Given the description of an element on the screen output the (x, y) to click on. 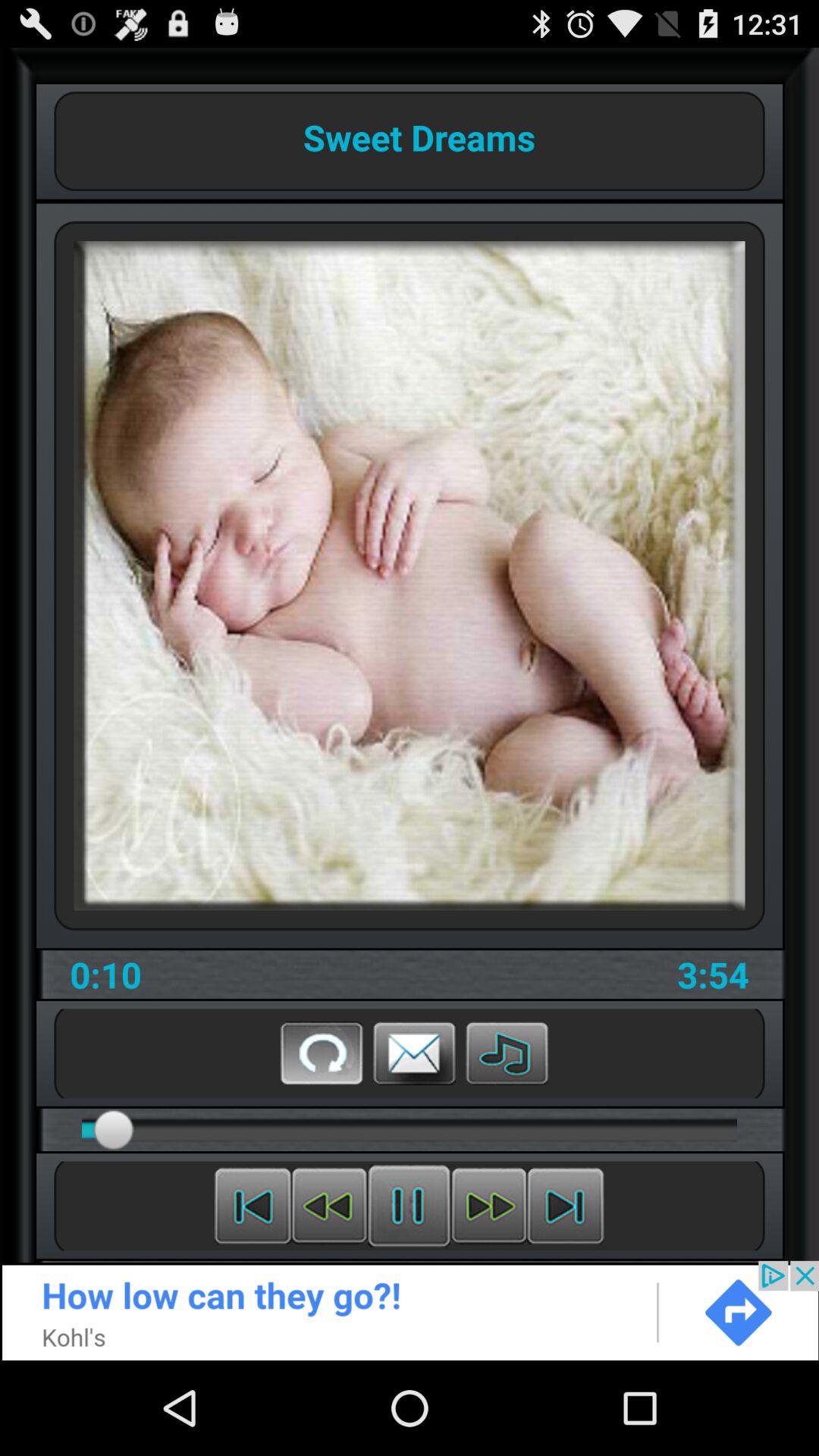
stop the play (408, 1205)
